Given the description of an element on the screen output the (x, y) to click on. 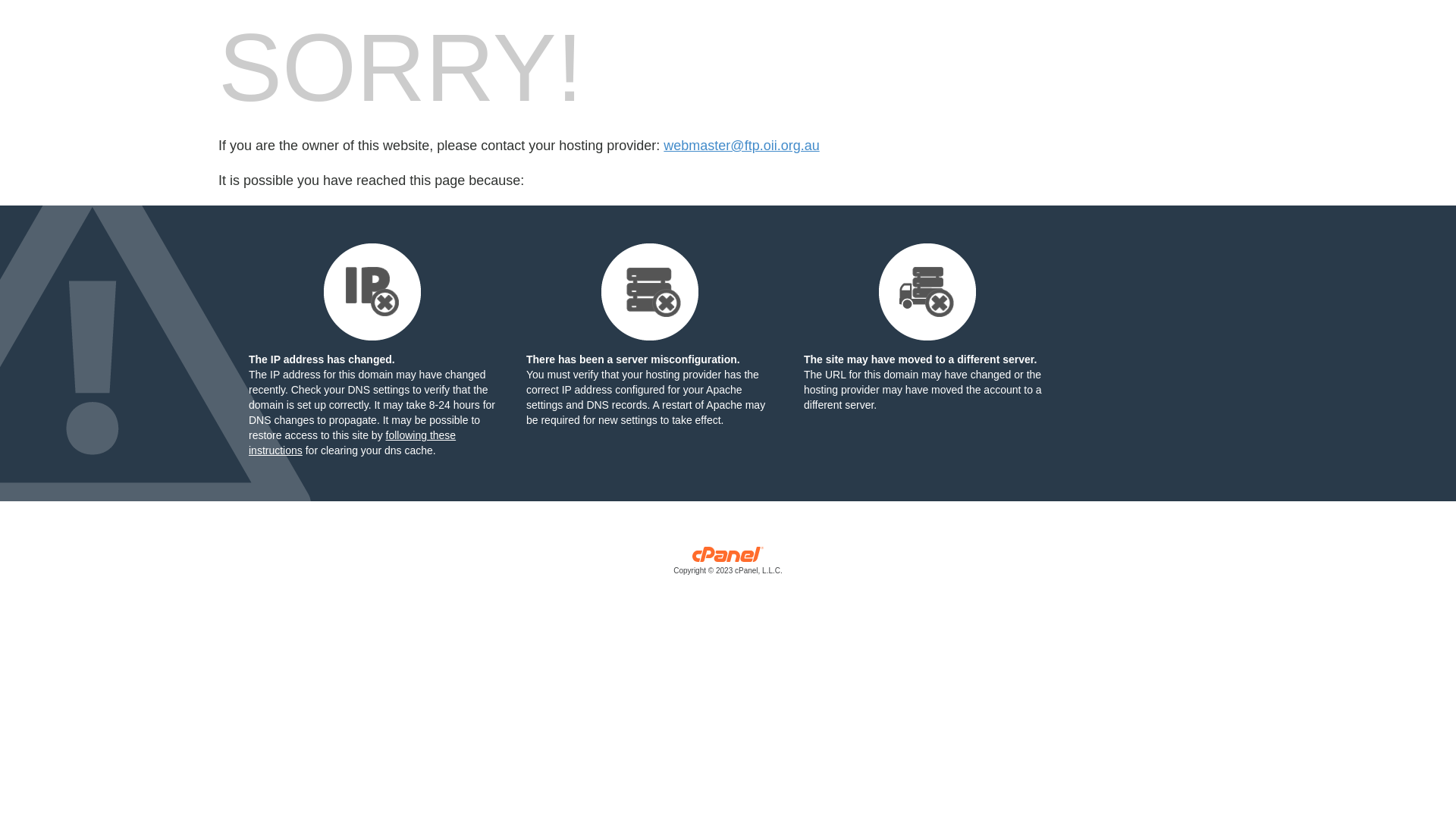
following these instructions Element type: text (351, 442)
webmaster@ftp.oii.org.au Element type: text (741, 145)
